Given the description of an element on the screen output the (x, y) to click on. 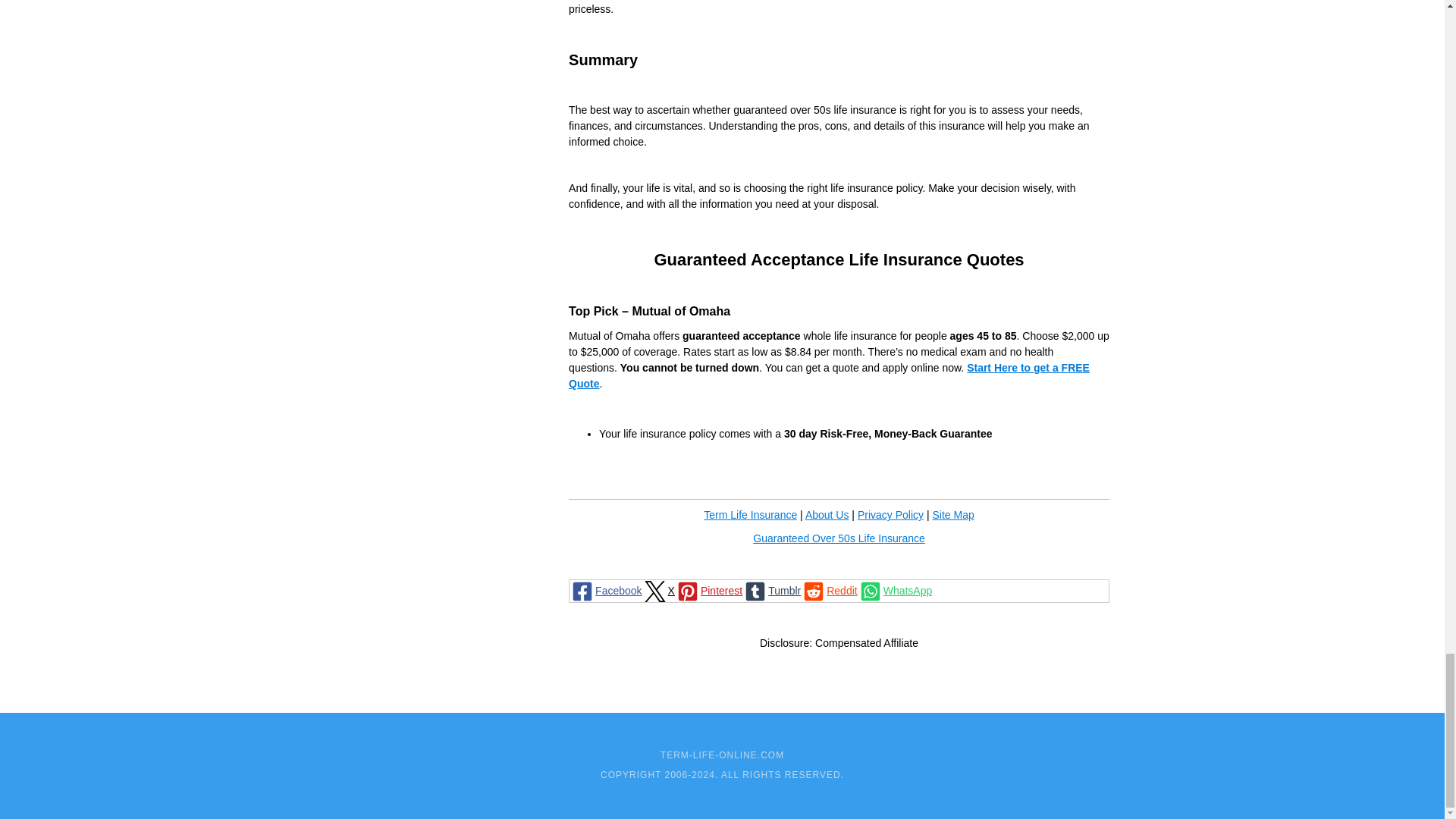
Facebook (605, 590)
Privacy Policy (890, 514)
Term Life Insurance (749, 514)
Guaranteed Over 50s Life Insurance (838, 538)
Site Map (952, 514)
Tumblr (771, 590)
About Us (826, 514)
Start Here to get a FREE Quote (829, 375)
WhatsApp (895, 590)
Pinterest (708, 590)
Reddit (828, 590)
X (658, 590)
